Given the description of an element on the screen output the (x, y) to click on. 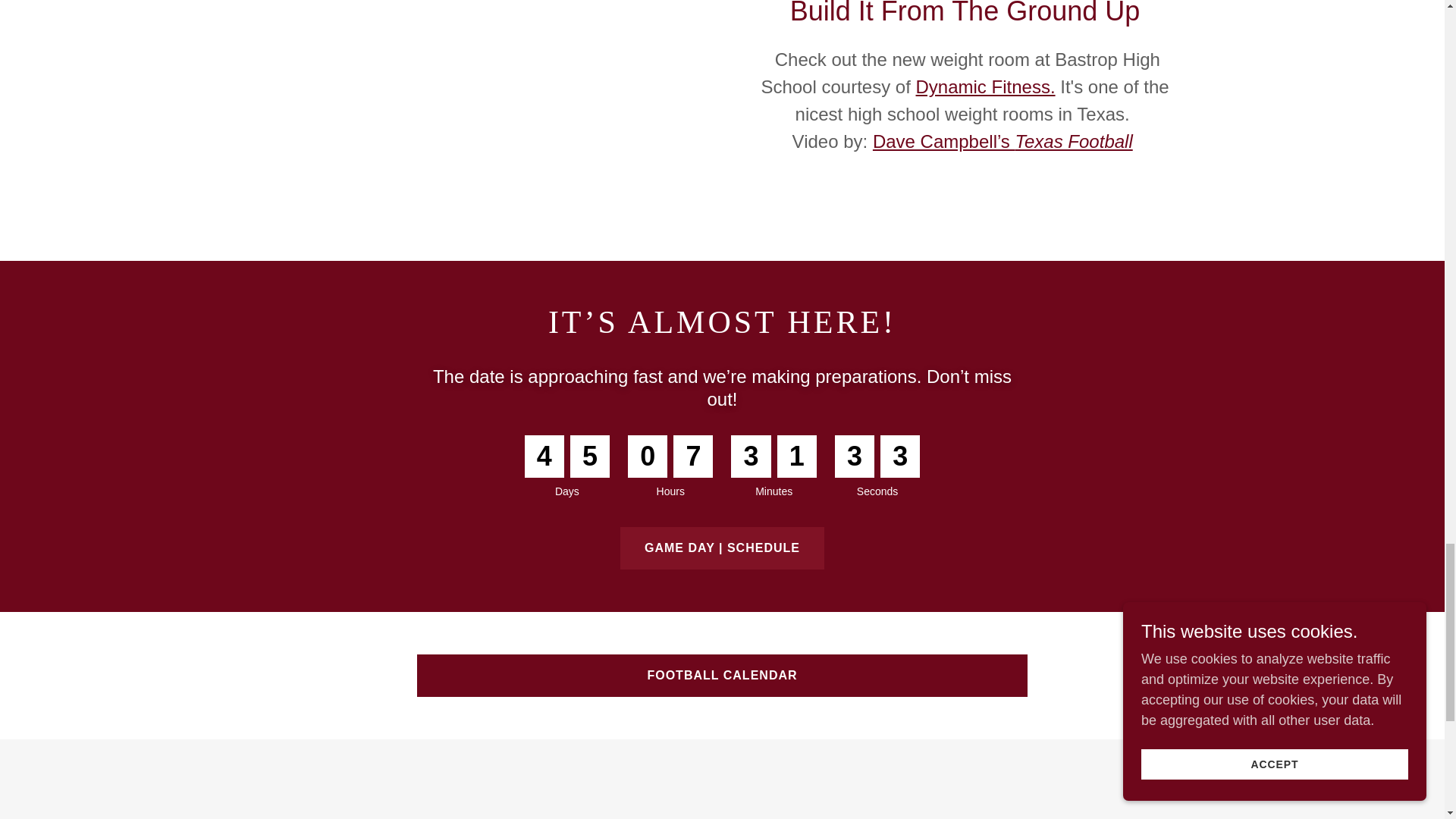
FOOTBALL CALENDAR (721, 675)
Dynamic Fitness. (985, 86)
